Given the description of an element on the screen output the (x, y) to click on. 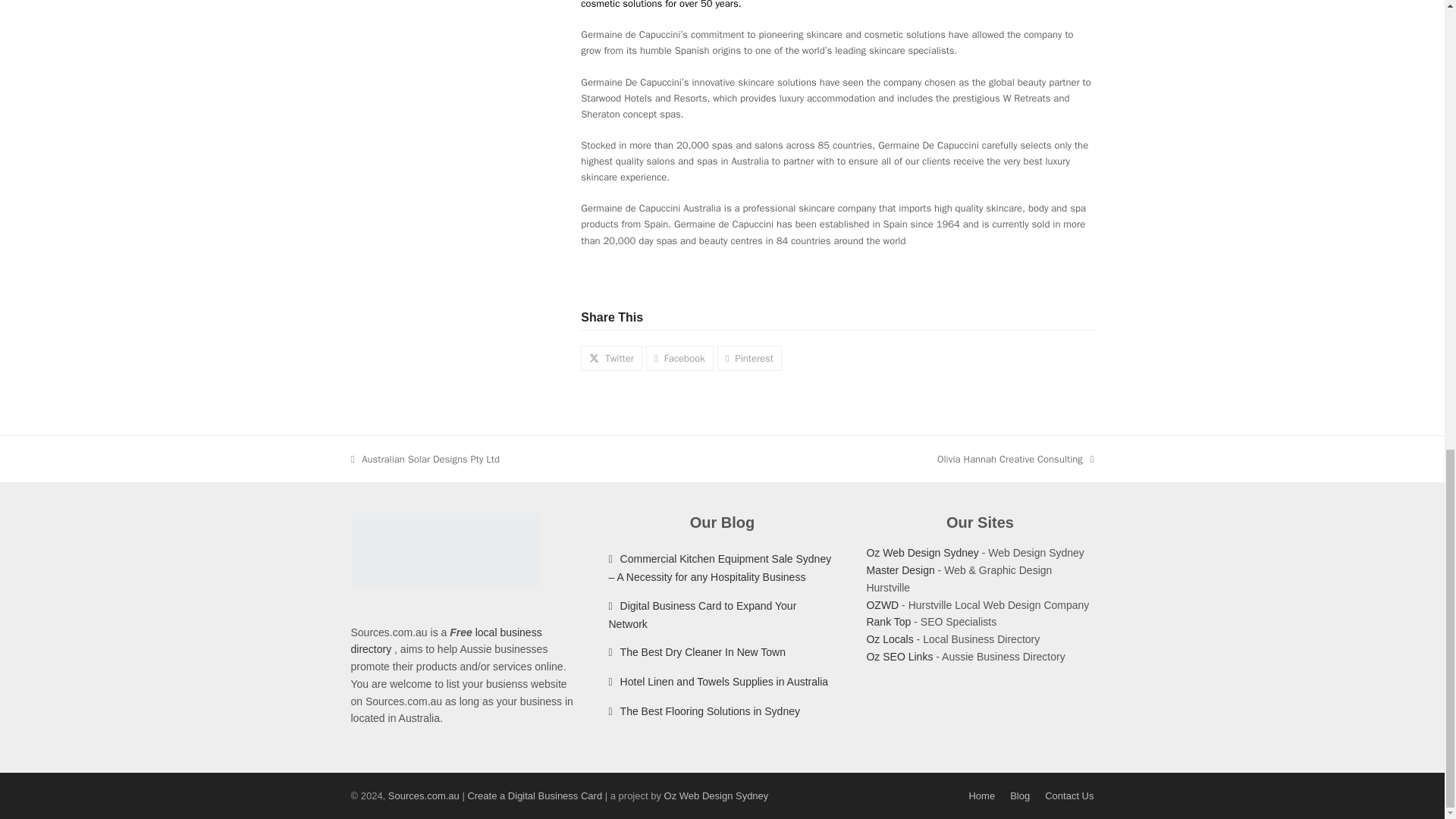
Oz Web Design Sydney (922, 552)
digital business card (534, 795)
web design hurstville (900, 570)
Rank Top (888, 621)
Facebook (679, 358)
australian business directory (889, 639)
local business directory (424, 458)
Pinterest (445, 641)
web design sydney (749, 358)
